Given the description of an element on the screen output the (x, y) to click on. 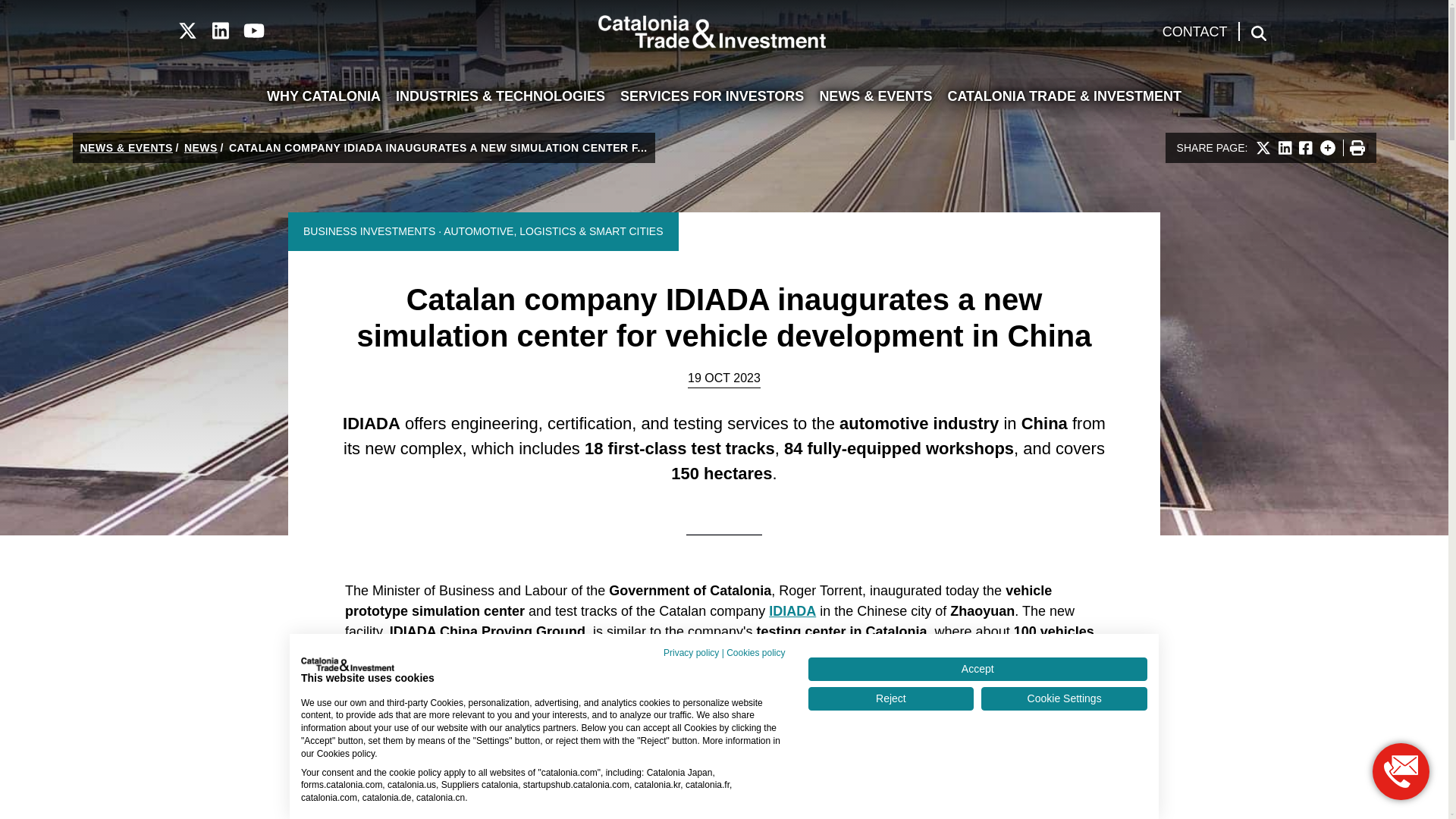
Open new window (1401, 771)
WHY CATALONIA (323, 97)
Catalonia TI Youtube channel (253, 30)
Search (1259, 33)
Catalonia TI LinkedIn profile (220, 30)
Skip to Content (41, 9)
IDIADA. Link to applusidiada.com. It opens in a new window (791, 611)
Catalonia TI X profile (186, 30)
Automotive industry (919, 423)
CONTACT (1195, 31)
